Given the description of an element on the screen output the (x, y) to click on. 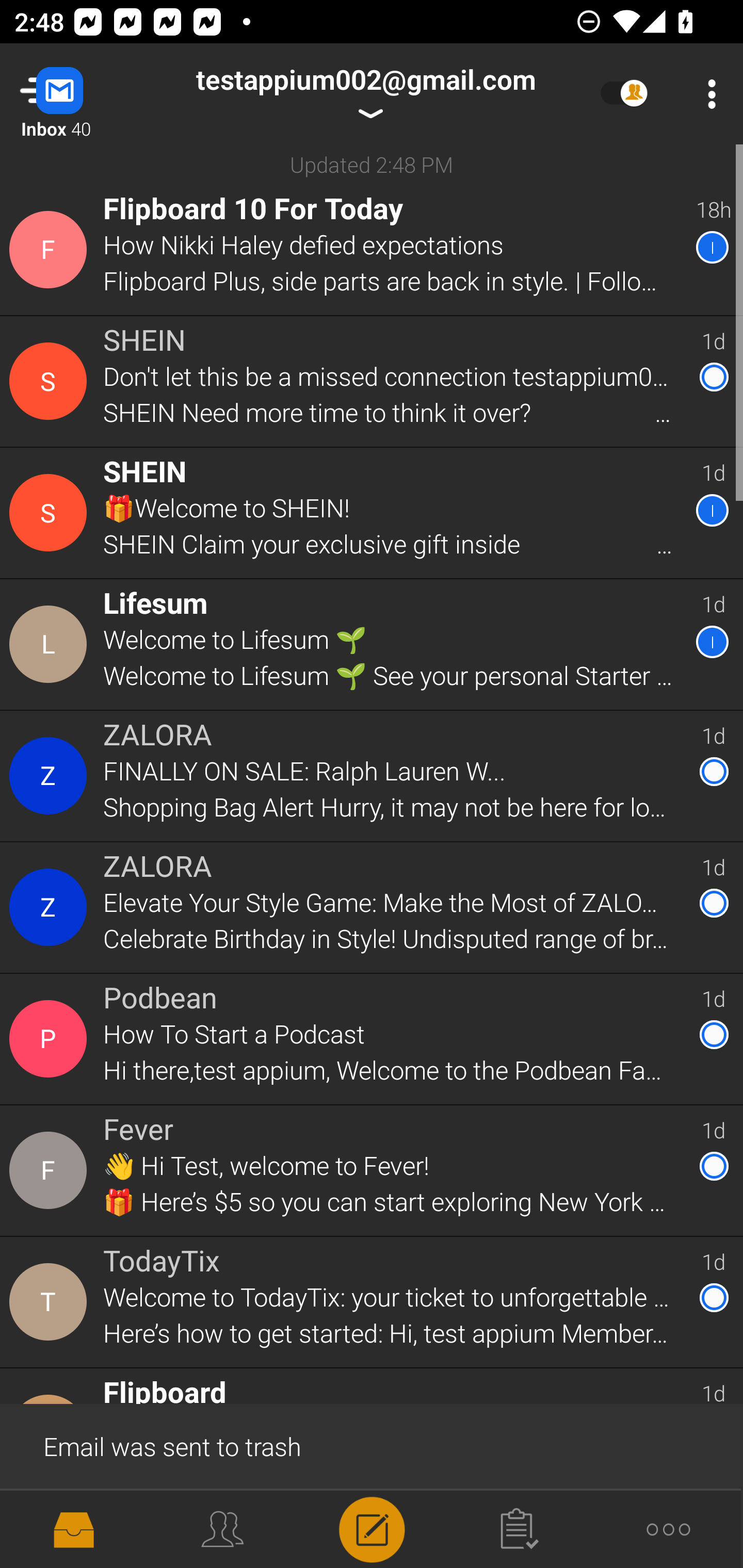
Navigate up (81, 93)
testappium002@gmail.com (365, 93)
More Options (706, 93)
Updated 2:48 PM (371, 164)
Contact Details (50, 250)
Contact Details (50, 381)
Contact Details (50, 513)
Contact Details (50, 644)
Contact Details (50, 776)
Contact Details (50, 907)
Contact Details (50, 1038)
Contact Details (50, 1170)
Contact Details (50, 1302)
Email was sent to trash (371, 1445)
Compose (371, 1528)
